Given the description of an element on the screen output the (x, y) to click on. 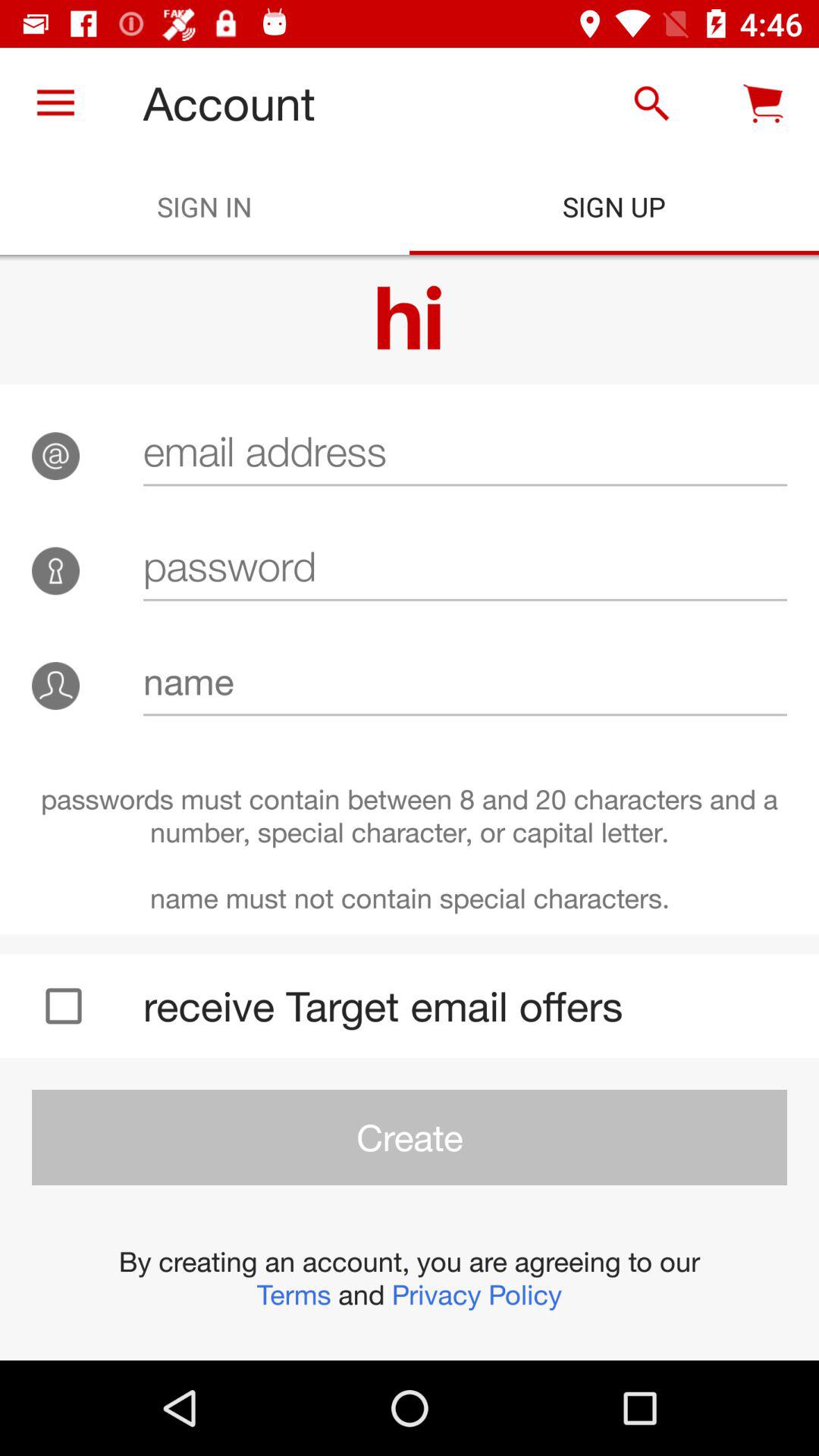
click the by creating an icon (409, 1277)
